Given the description of an element on the screen output the (x, y) to click on. 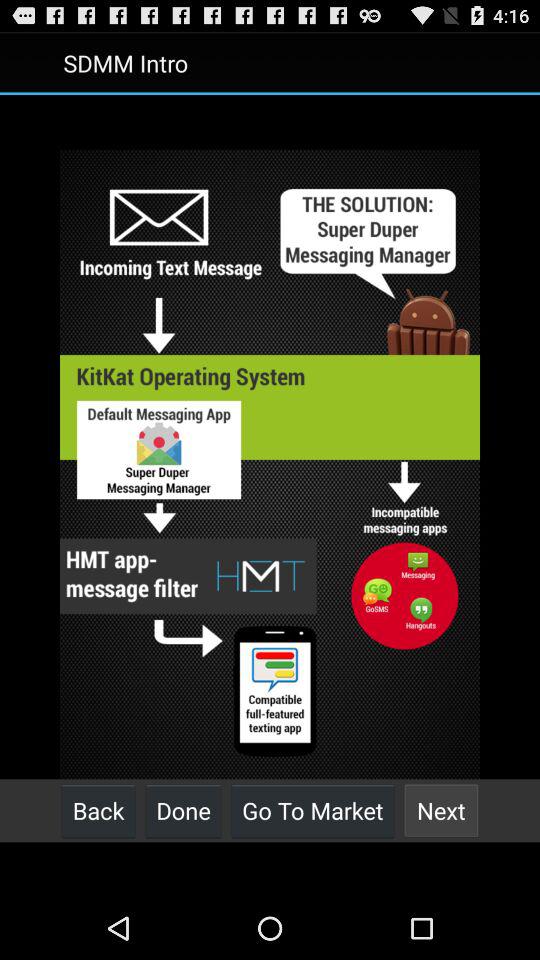
turn off item to the left of the done (98, 810)
